Given the description of an element on the screen output the (x, y) to click on. 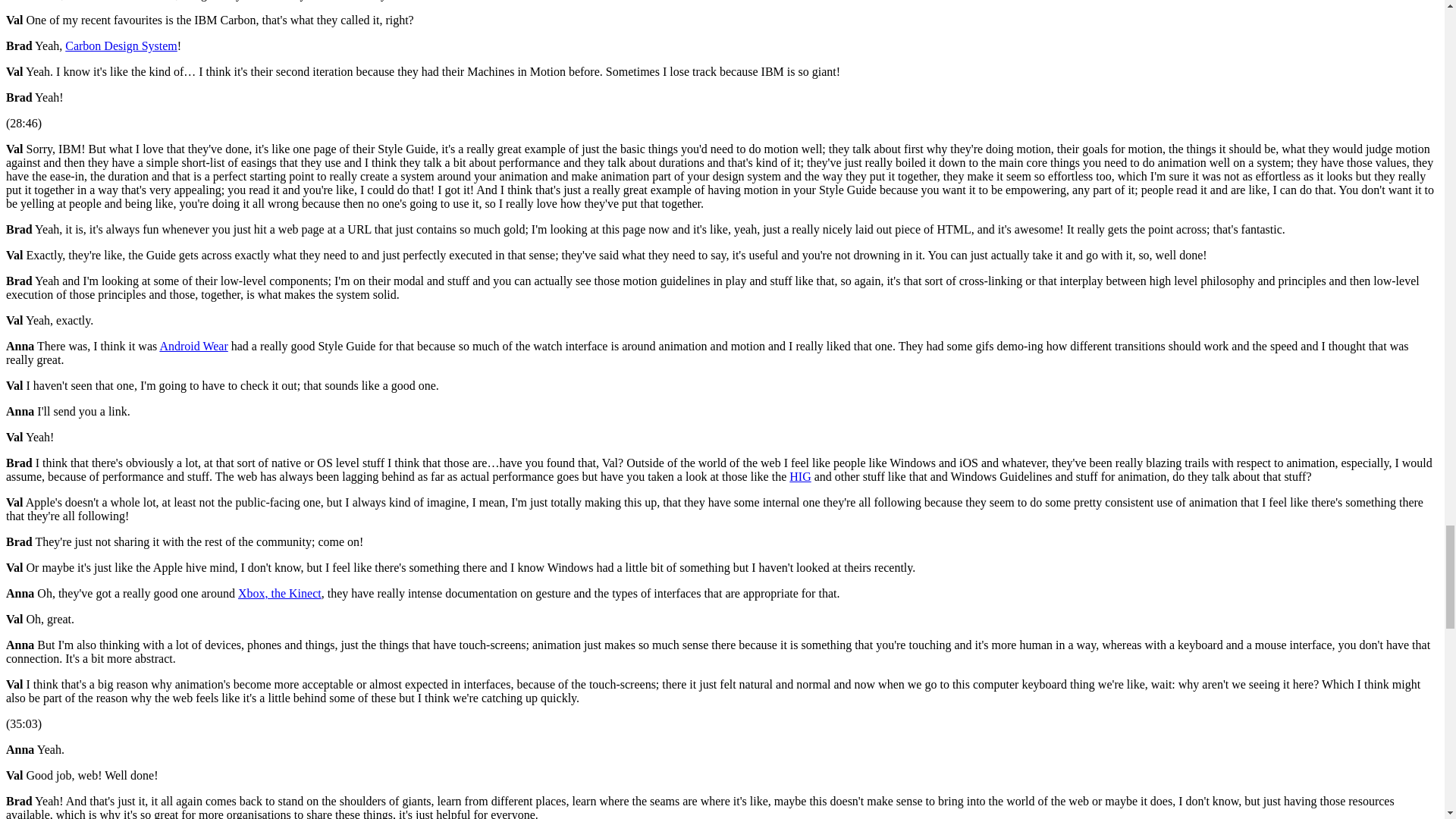
Xbox, the Kinect (279, 593)
Carbon Design System (121, 45)
Android Wear (192, 345)
HIG (799, 476)
